Given the description of an element on the screen output the (x, y) to click on. 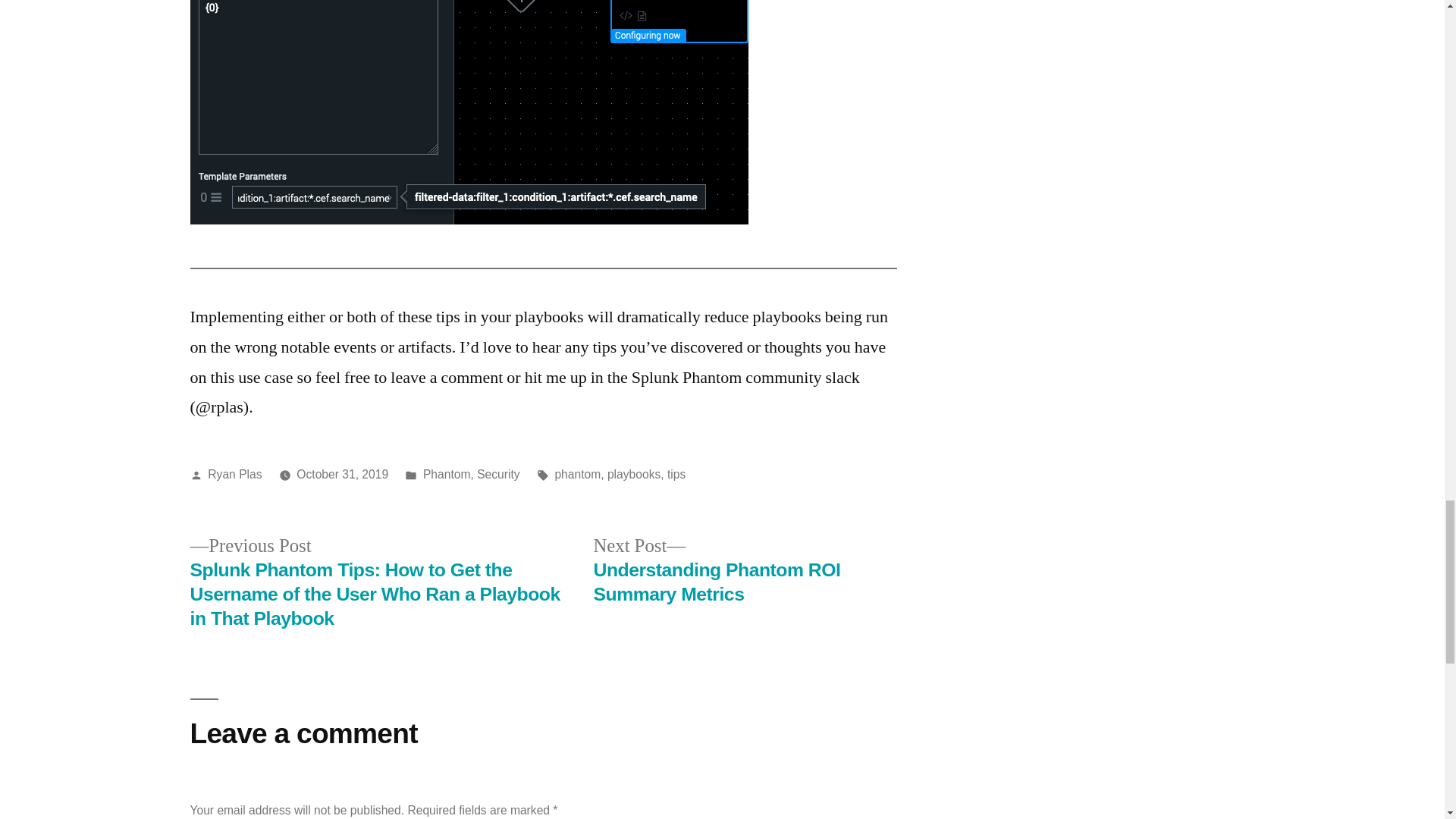
Security (498, 473)
October 31, 2019 (342, 473)
phantom (576, 473)
tips (675, 473)
playbooks (634, 473)
Ryan Plas (235, 473)
Phantom (446, 473)
